Given the description of an element on the screen output the (x, y) to click on. 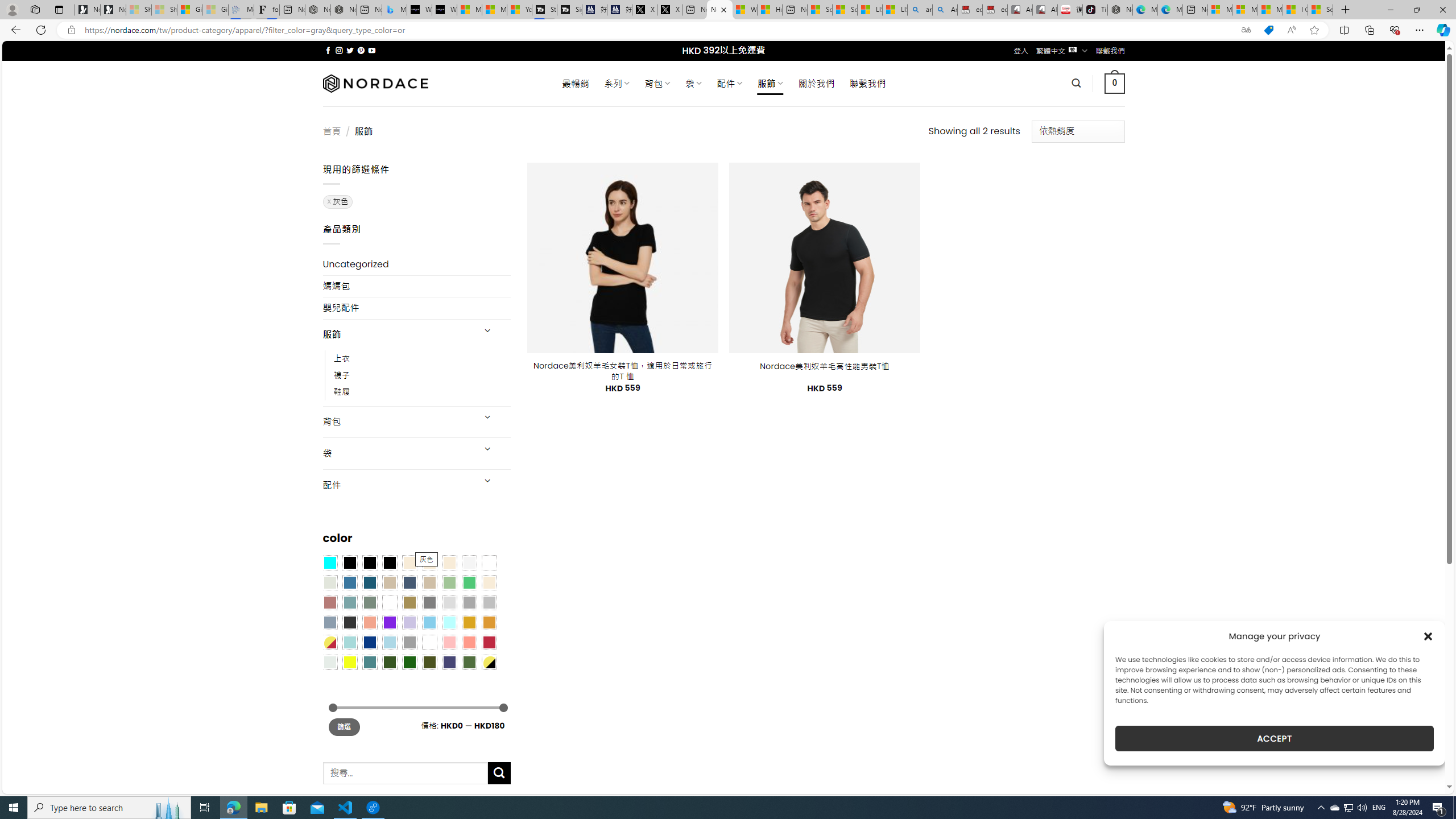
Microsoft Bing Travel - Shangri-La Hotel Bangkok (394, 9)
Follow on Twitter (349, 50)
